Given the description of an element on the screen output the (x, y) to click on. 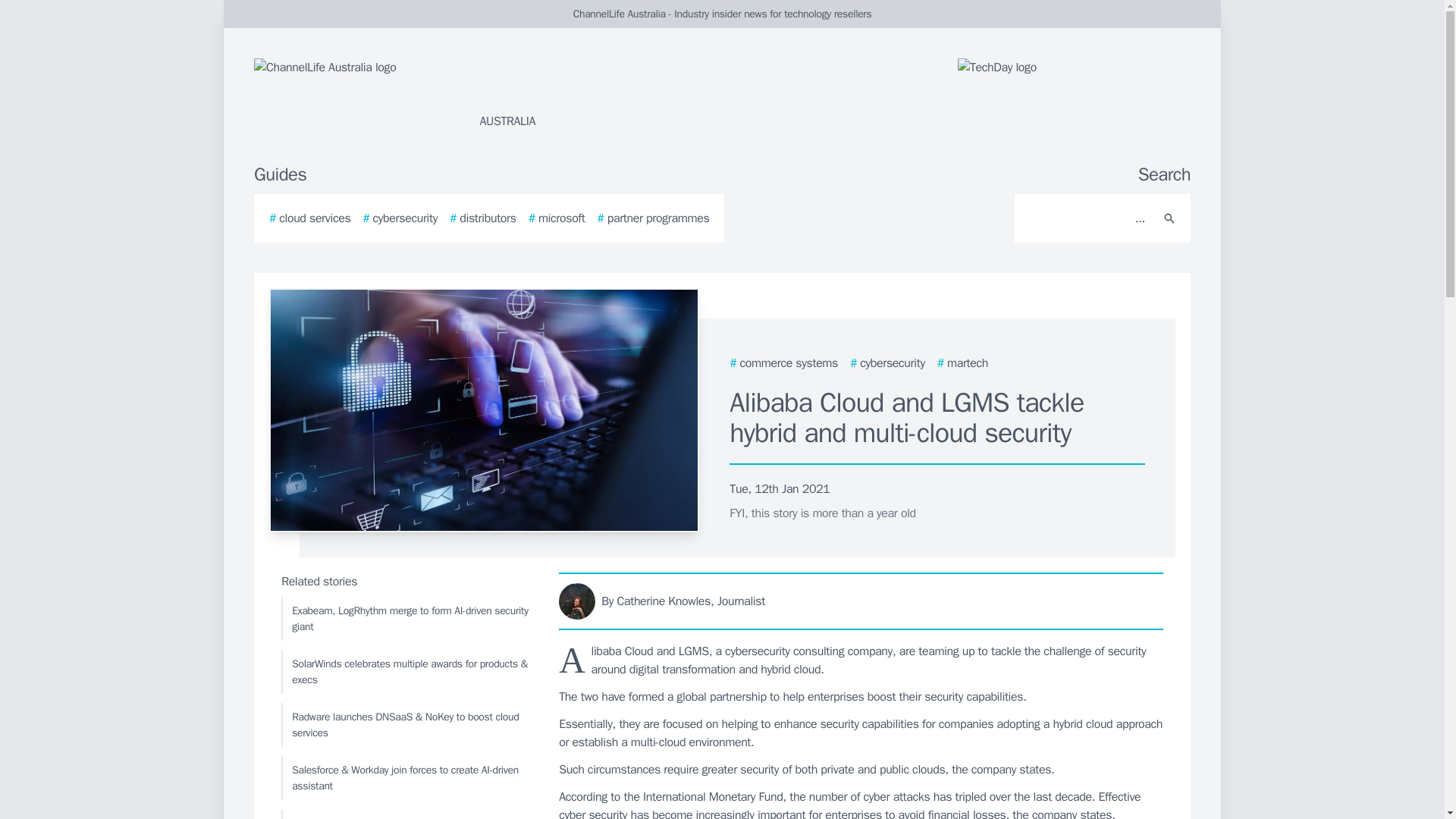
By Catherine Knowles, Journalist (861, 601)
AUSTRALIA (435, 94)
Exabeam, LogRhythm merge to form AI-driven security giant (406, 618)
